Given the description of an element on the screen output the (x, y) to click on. 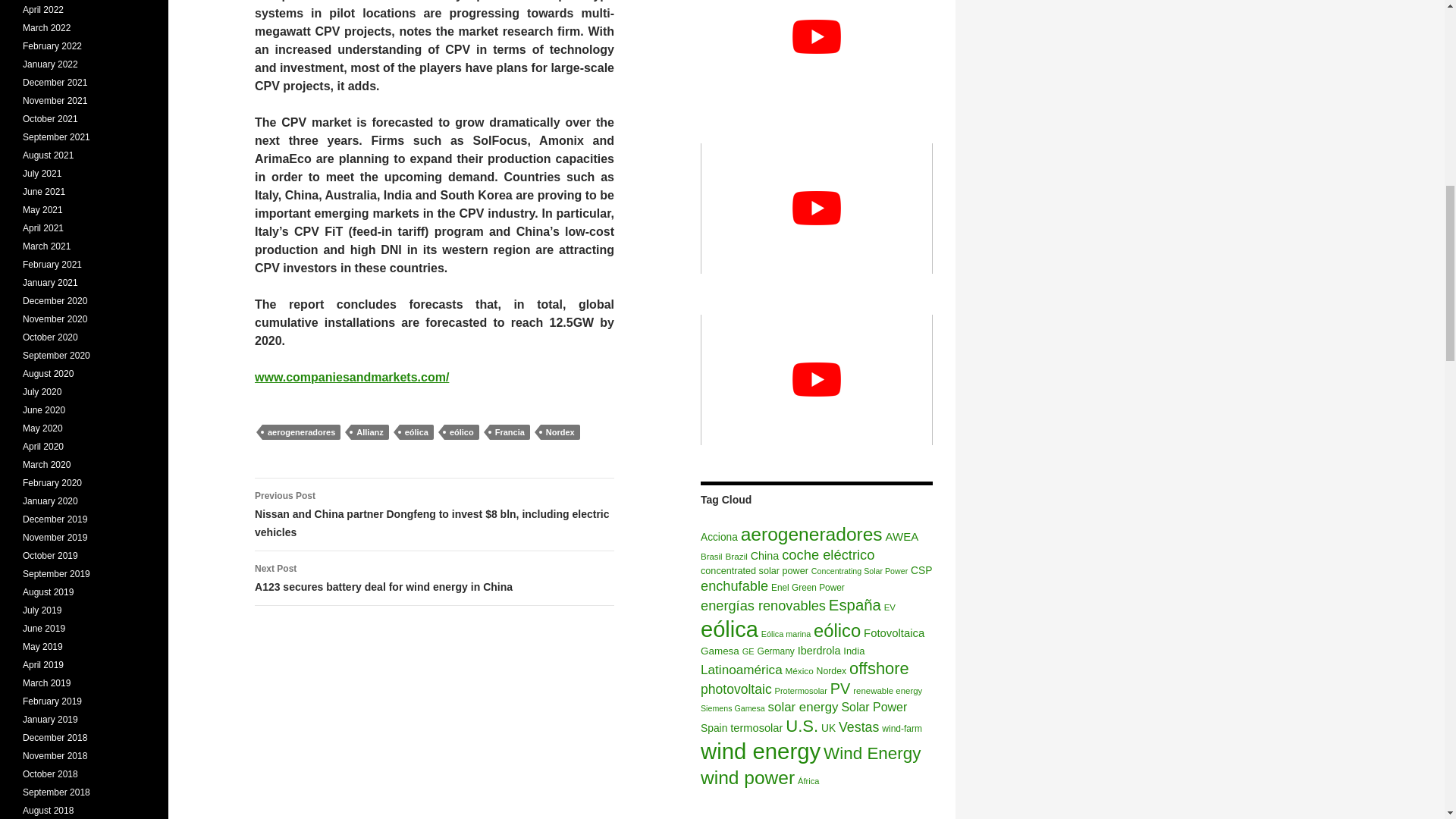
Francia (509, 432)
aerogeneradores (811, 534)
Allianz (369, 432)
Acciona (719, 536)
Nordex (559, 432)
aerogeneradores (434, 578)
